Given the description of an element on the screen output the (x, y) to click on. 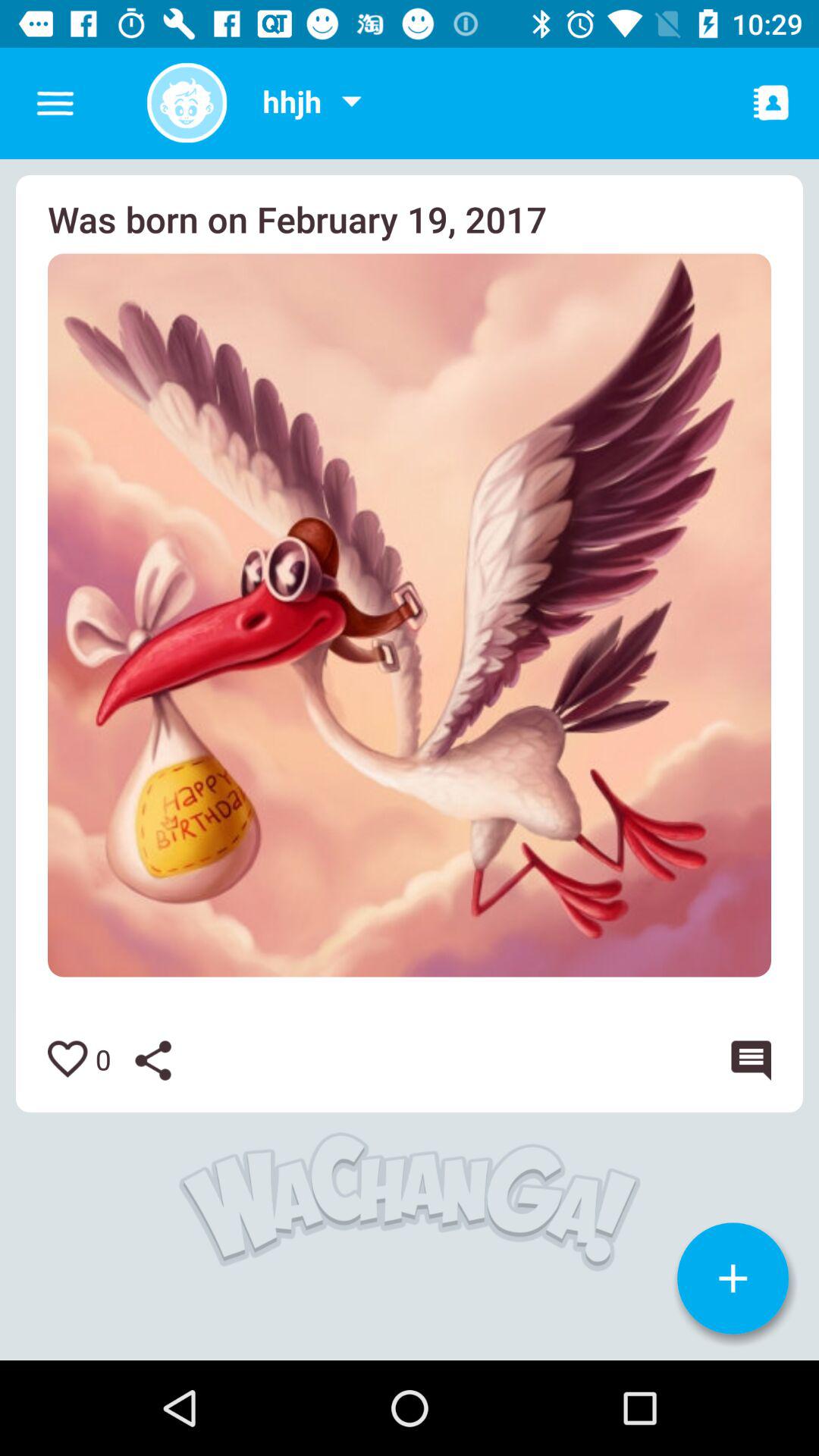
click on share button (165, 1060)
